Given the description of an element on the screen output the (x, y) to click on. 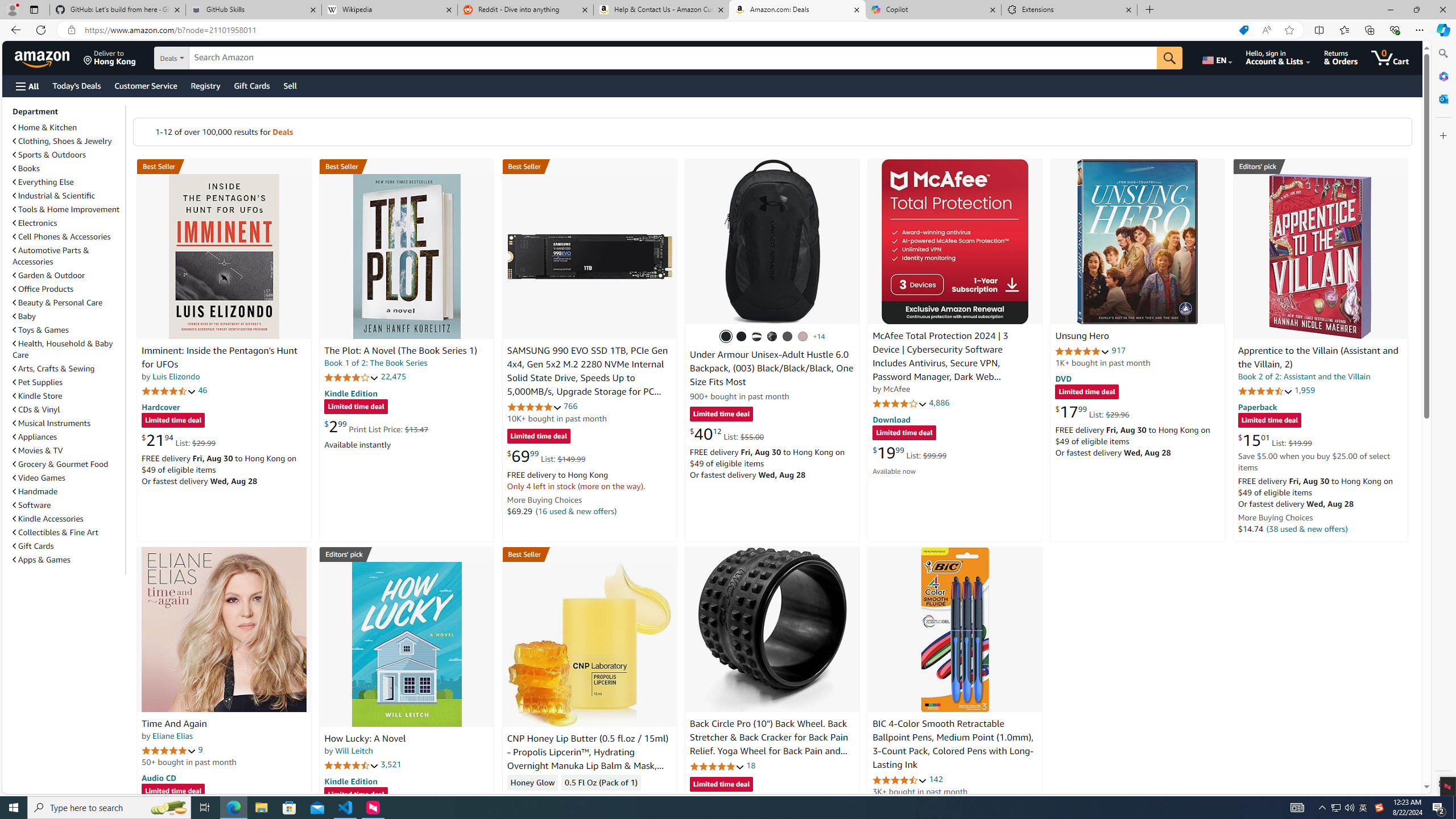
Apprentice to the Villain (Assistant and the Villain, 2) (1318, 358)
DVD (1063, 378)
4.8 out of 5 stars (716, 766)
Arts, Crafts & Sewing (53, 368)
Pet Supplies (37, 381)
App bar (728, 29)
Grocery & Gourmet Food (61, 463)
Toys & Games (67, 329)
The Plot: A Novel (The Book Series 1) (400, 351)
Best Seller in Unexplained Mysteries (223, 165)
Eliane Elias (171, 735)
Cell Phones & Accessories (67, 236)
Amazon.com: Deals (797, 9)
